Given the description of an element on the screen output the (x, y) to click on. 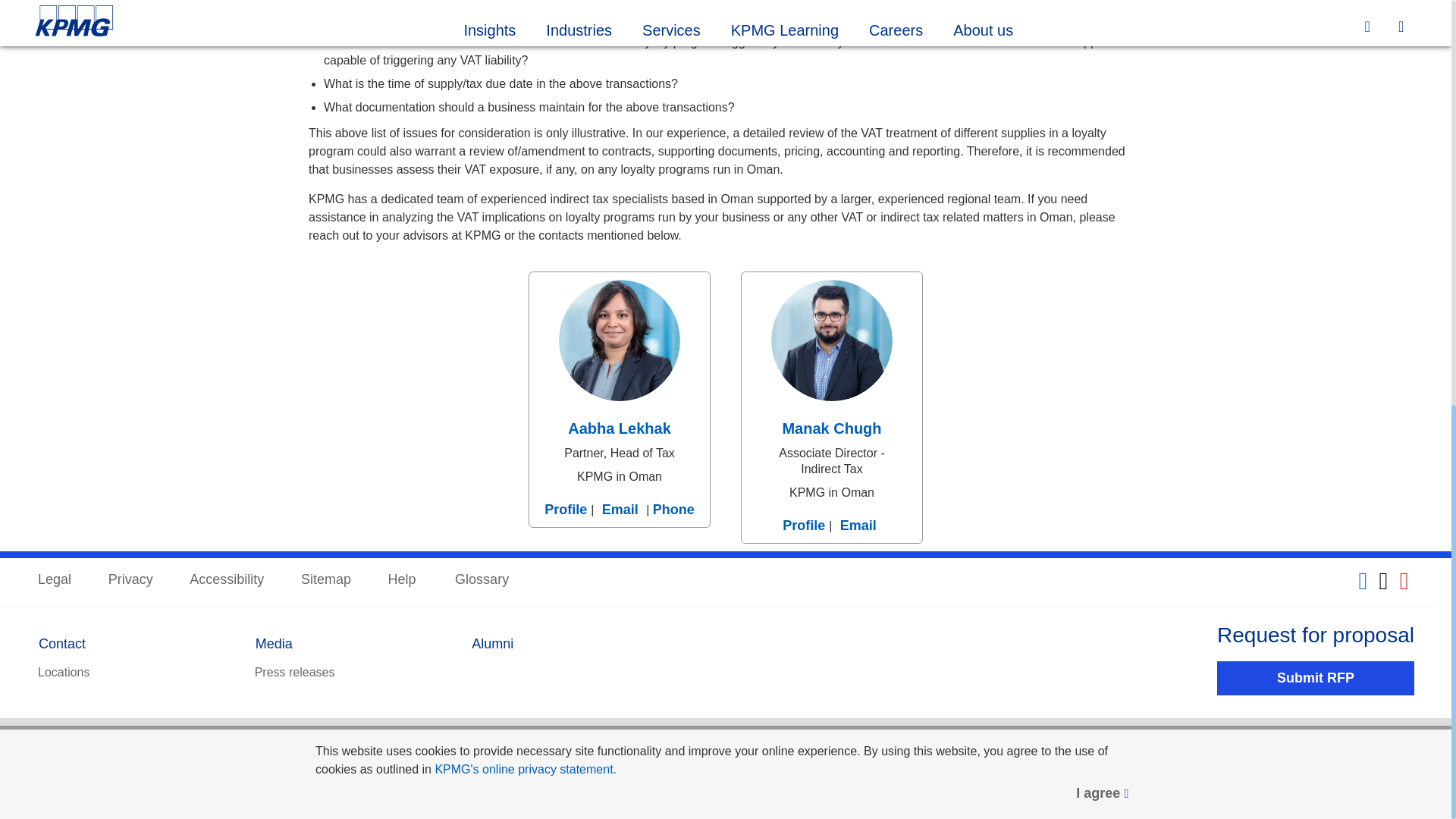
I agree (1103, 2)
